Given the description of an element on the screen output the (x, y) to click on. 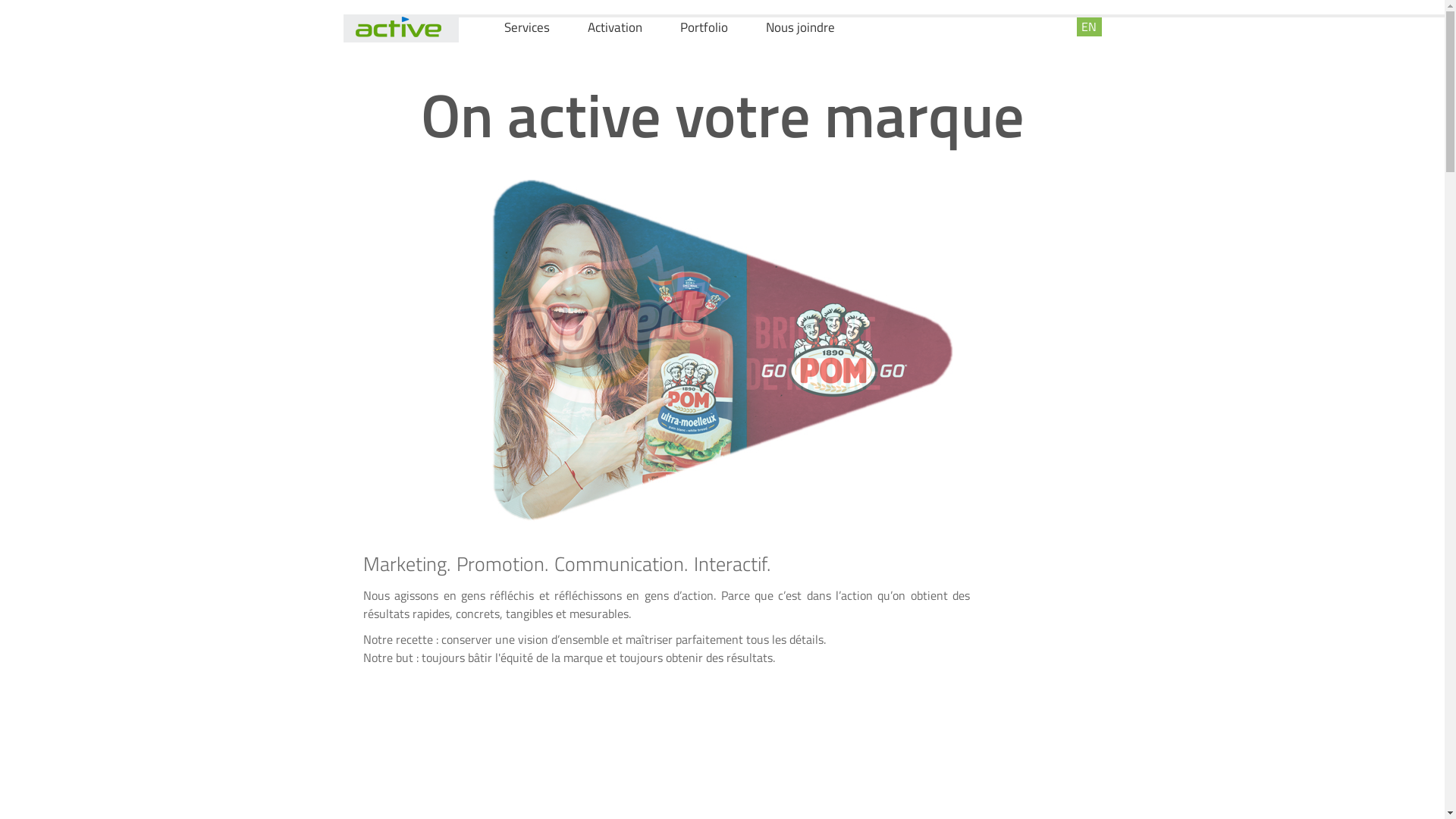
Activation Element type: text (613, 28)
EN Element type: text (1088, 26)
Services Element type: text (526, 28)
Nous joindre Element type: text (799, 28)
Portfolio Element type: text (703, 28)
